Given the description of an element on the screen output the (x, y) to click on. 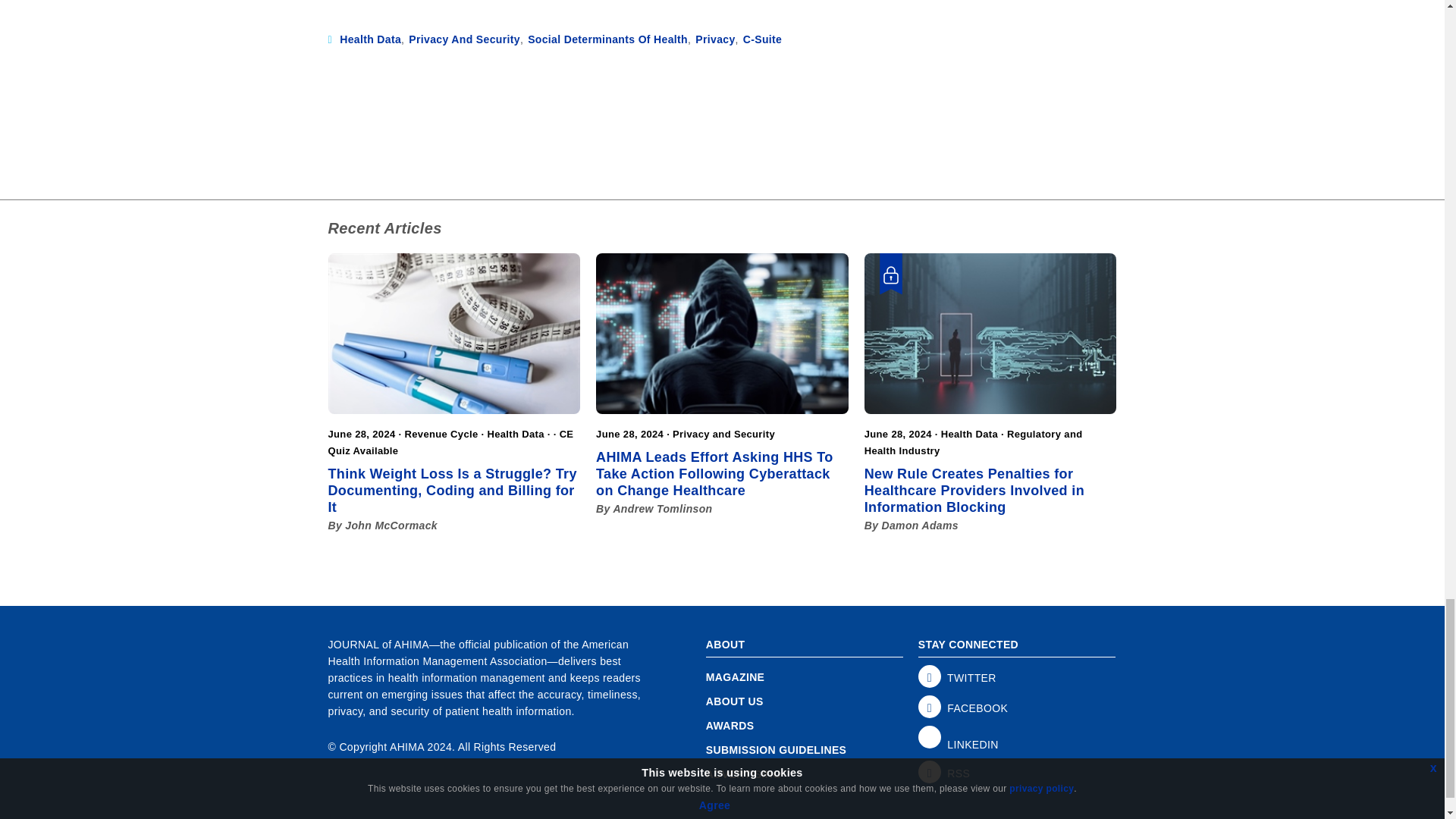
Health Data (370, 39)
C-Suite (761, 39)
Privacy (715, 39)
Privacy And Security (464, 39)
Social Determinants Of Health (607, 39)
MAGAZINE (804, 677)
ABOUT US (804, 701)
